Given the description of an element on the screen output the (x, y) to click on. 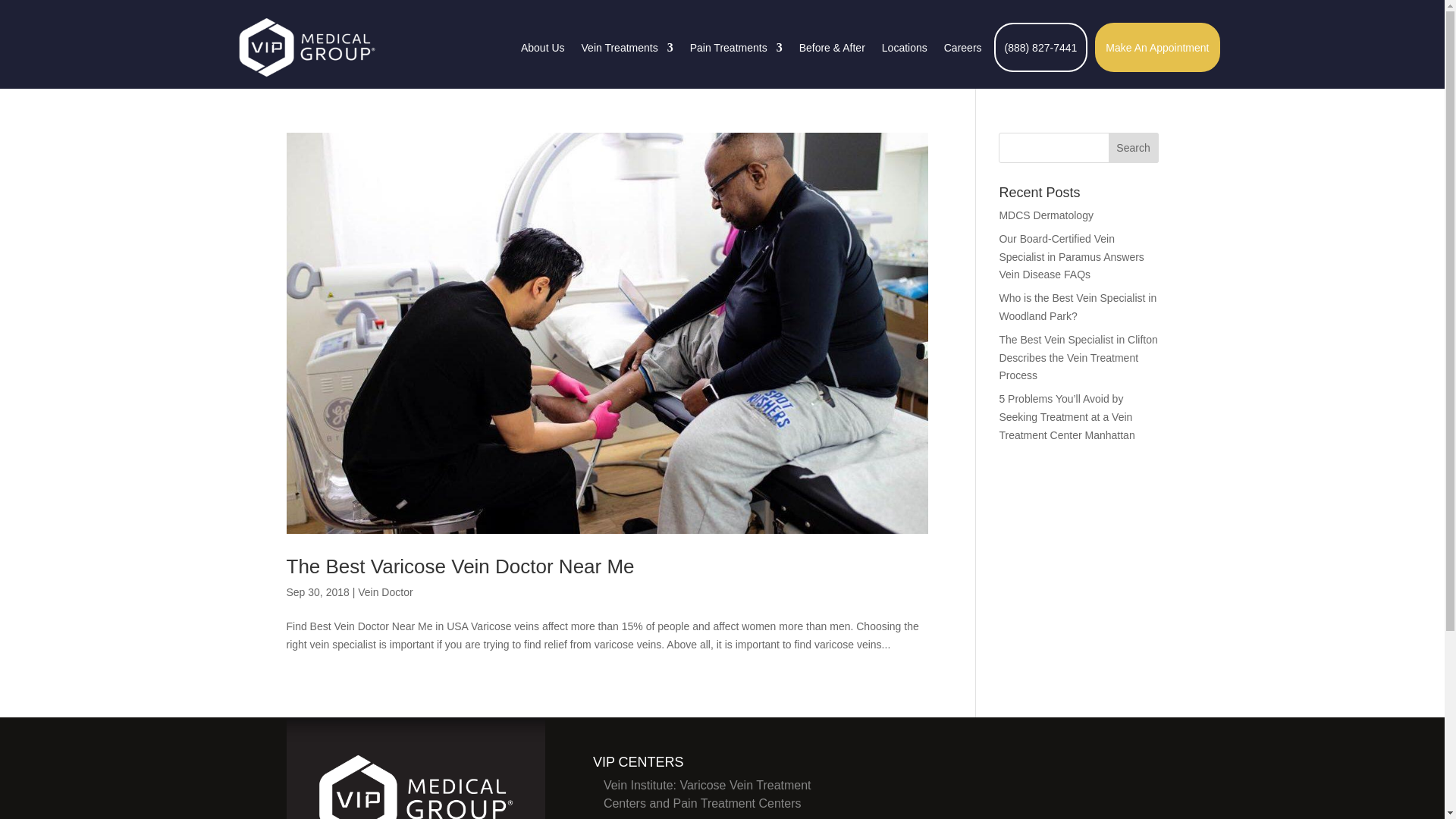
Vein Treatments (626, 47)
Pain Treatments (736, 47)
Search (1133, 147)
Make An Appointment (1157, 47)
Make An Appointment (1157, 47)
